Given the description of an element on the screen output the (x, y) to click on. 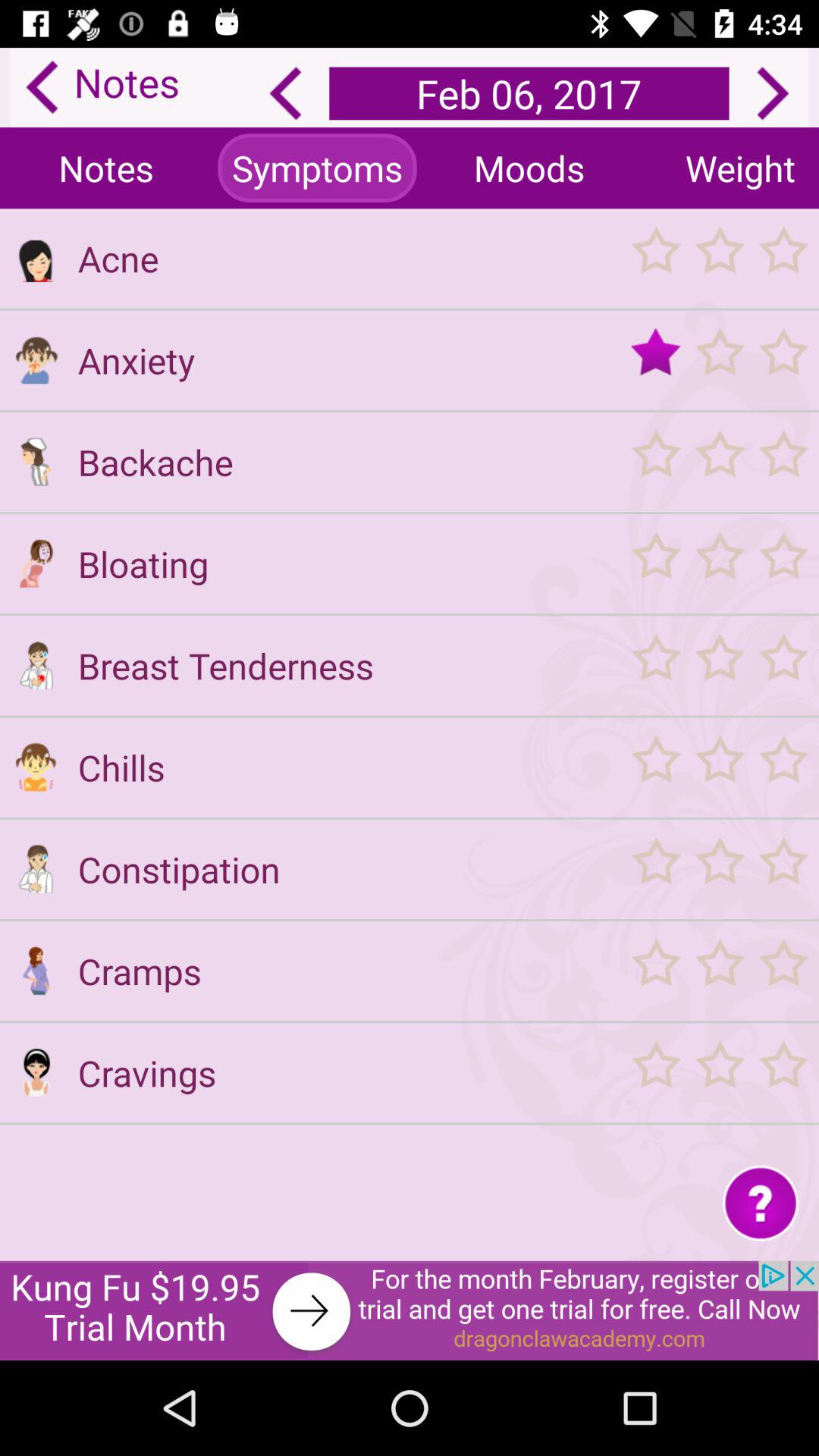
go to back (285, 93)
